Given the description of an element on the screen output the (x, y) to click on. 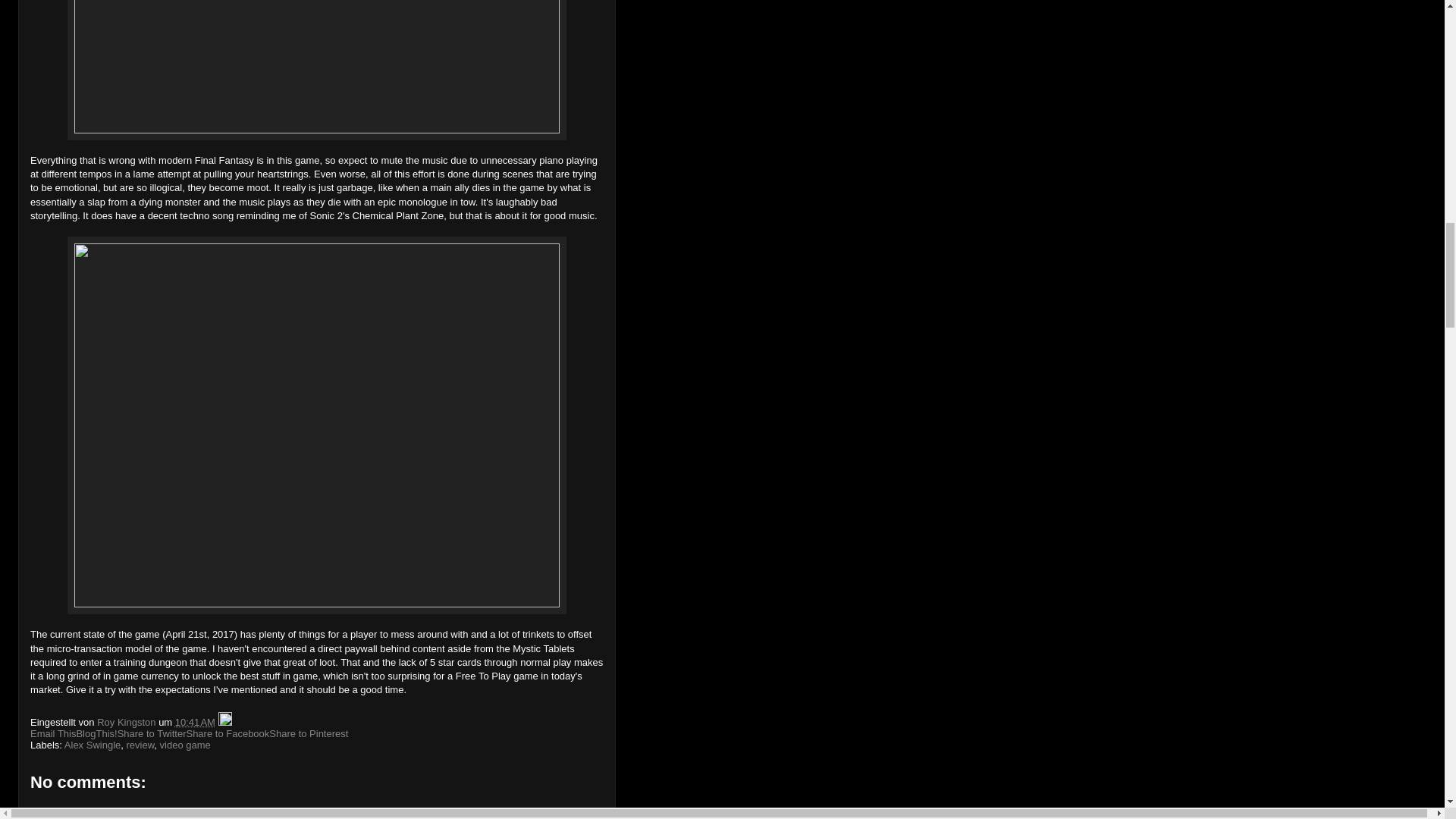
Share to Pinterest (308, 733)
Share to Twitter (151, 733)
Share to Facebook (227, 733)
Edit Post (224, 722)
Roy Kingston (127, 722)
permanent link (194, 722)
Email This (52, 733)
author profile (127, 722)
BlogThis! (95, 733)
Email This (52, 733)
